Given the description of an element on the screen output the (x, y) to click on. 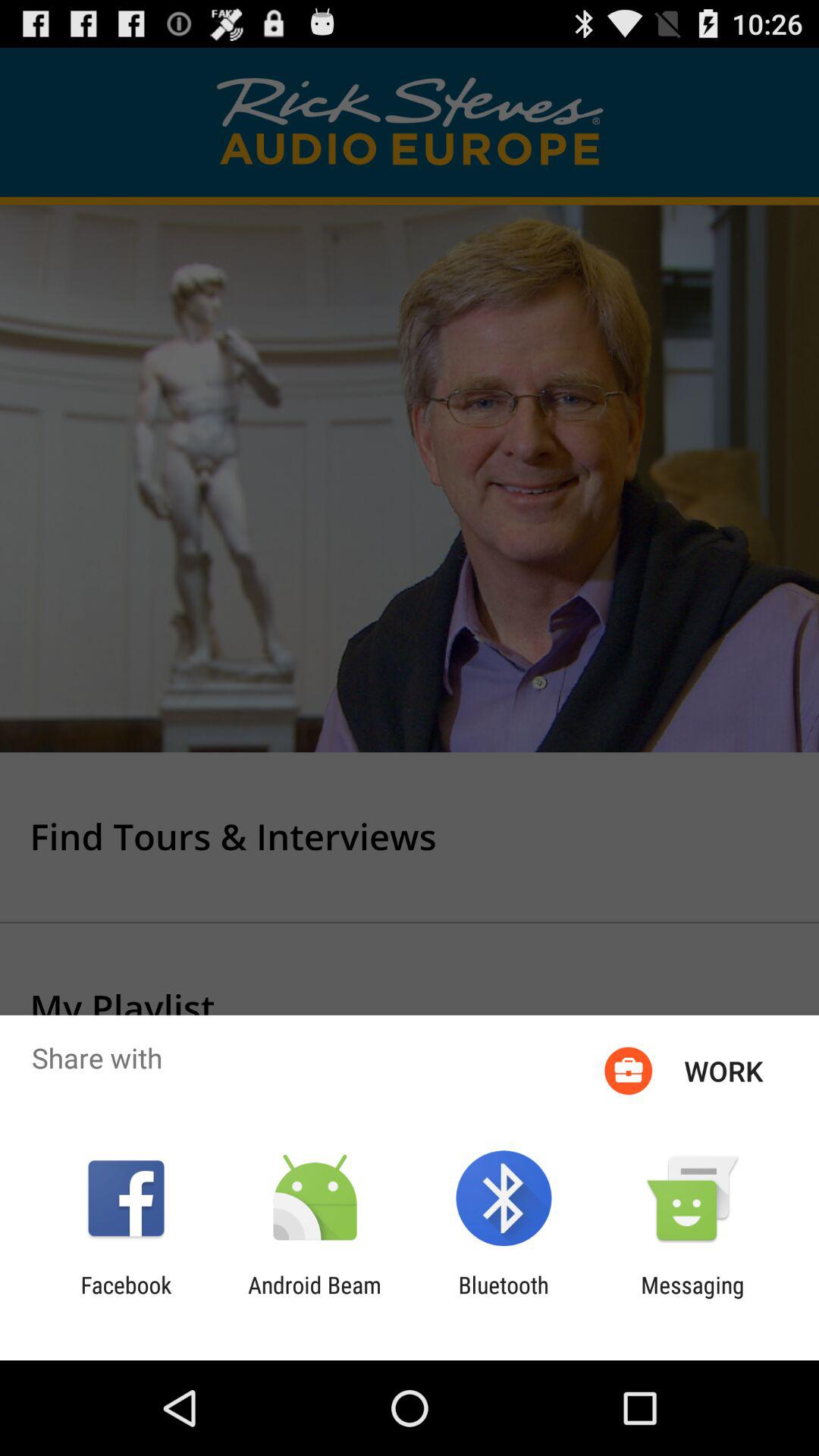
press icon next to the facebook (314, 1298)
